Given the description of an element on the screen output the (x, y) to click on. 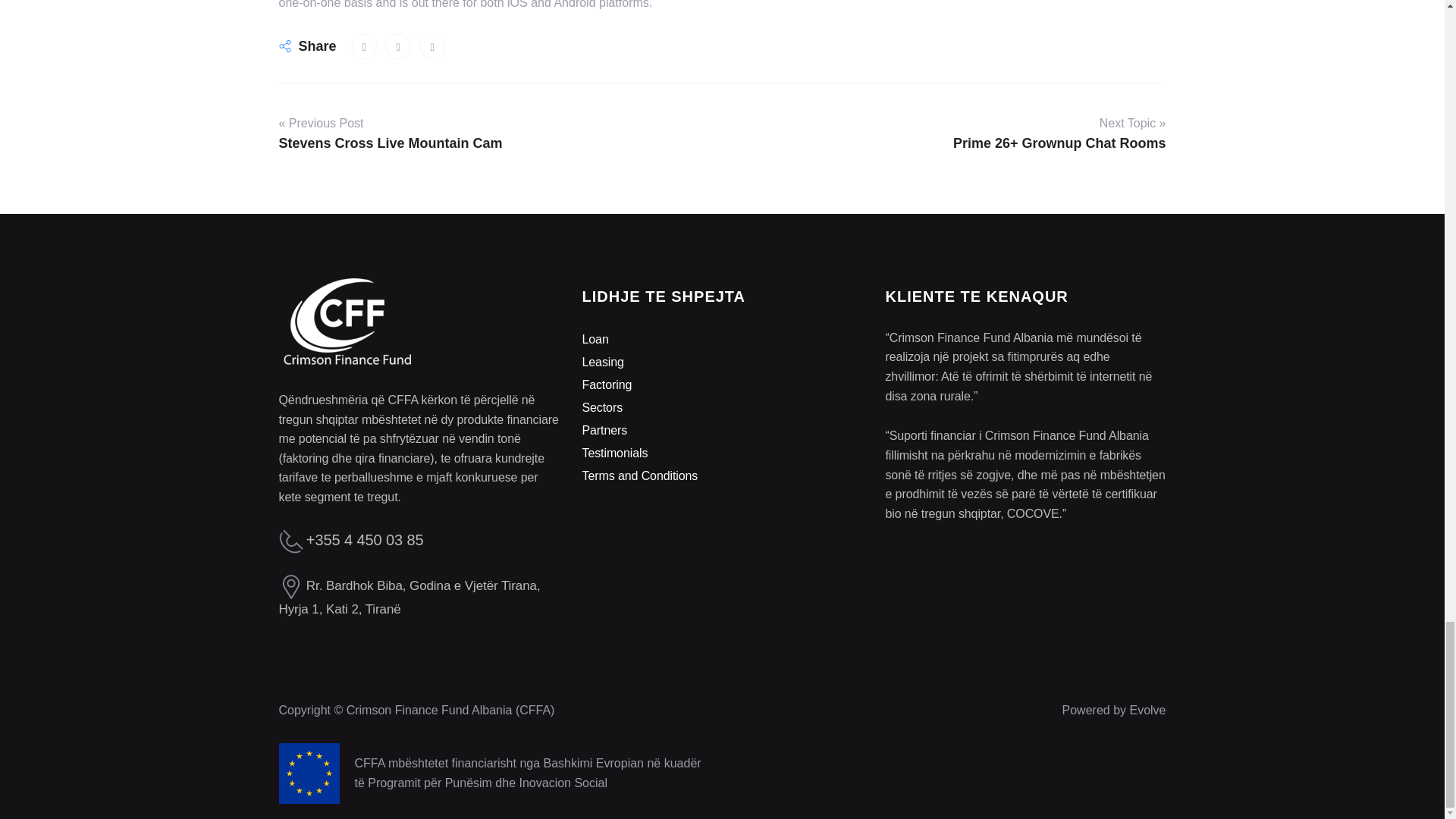
Partners (603, 430)
Leasing (601, 361)
Omegle Review August 2022 (363, 46)
Factoring (605, 384)
Sectors (601, 407)
Loan (594, 338)
